Given the description of an element on the screen output the (x, y) to click on. 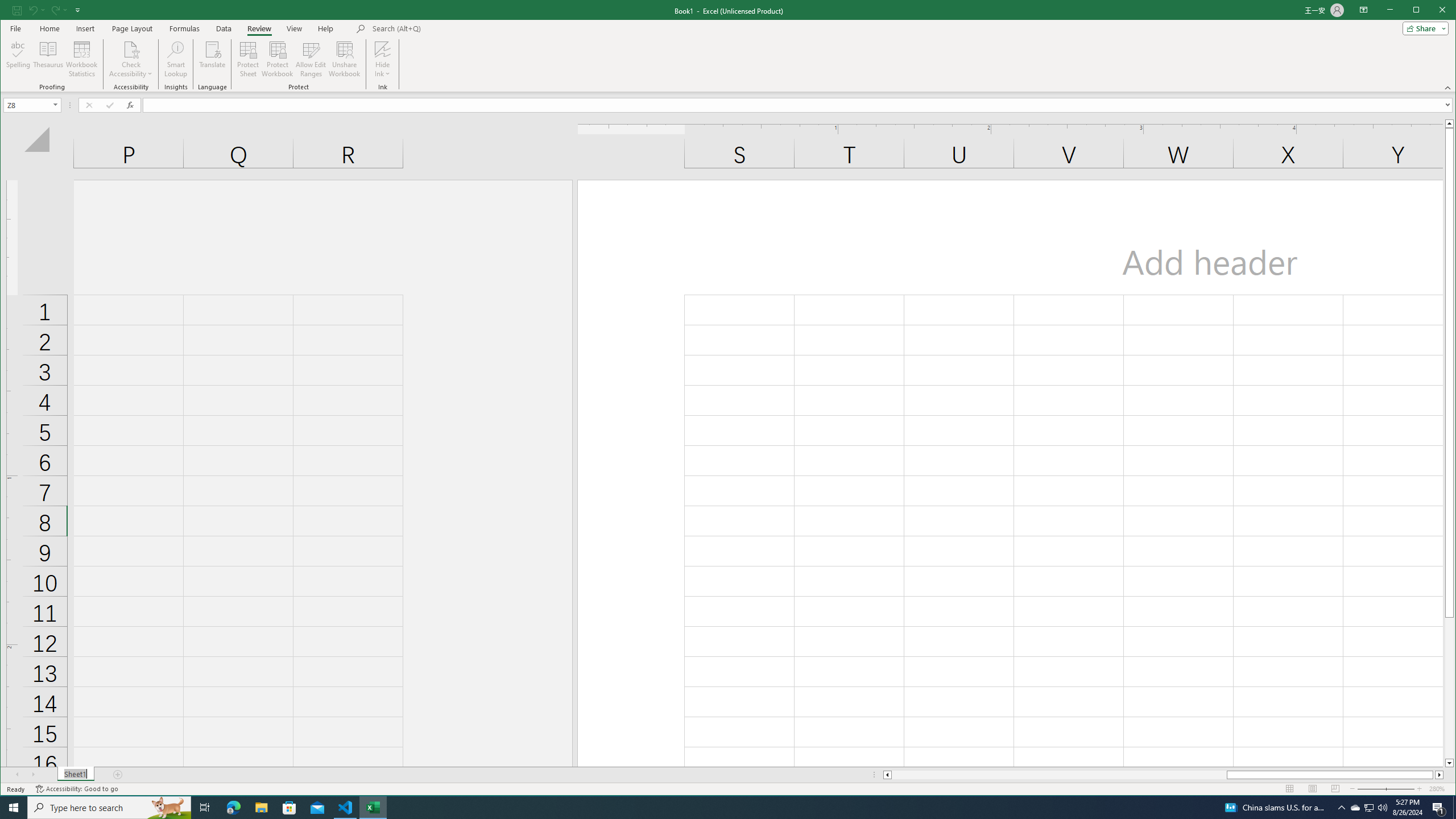
Microsoft Store (1368, 807)
Maximize (289, 807)
Task View (1432, 11)
